Given the description of an element on the screen output the (x, y) to click on. 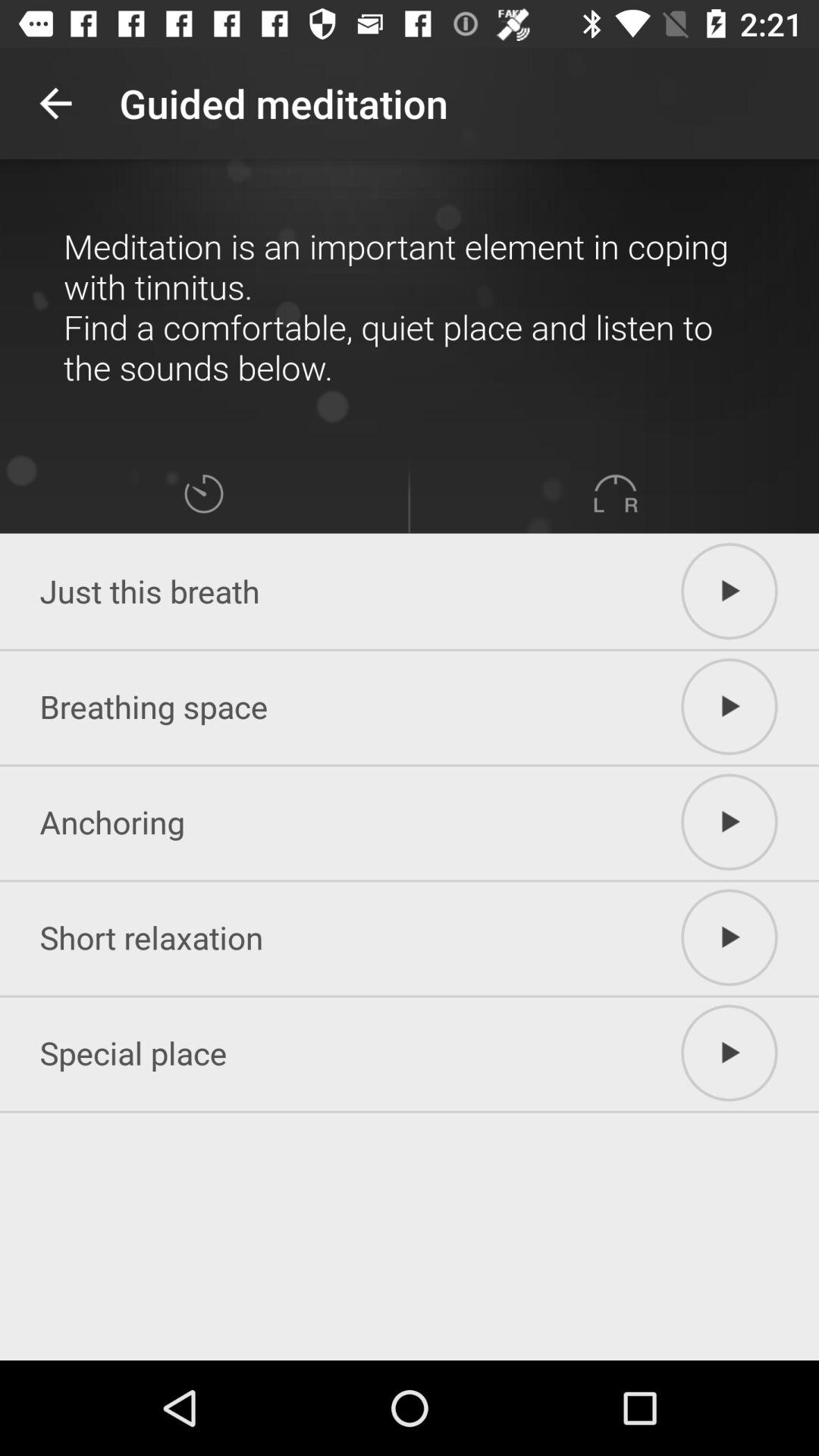
go to time counter (203, 493)
